Given the description of an element on the screen output the (x, y) to click on. 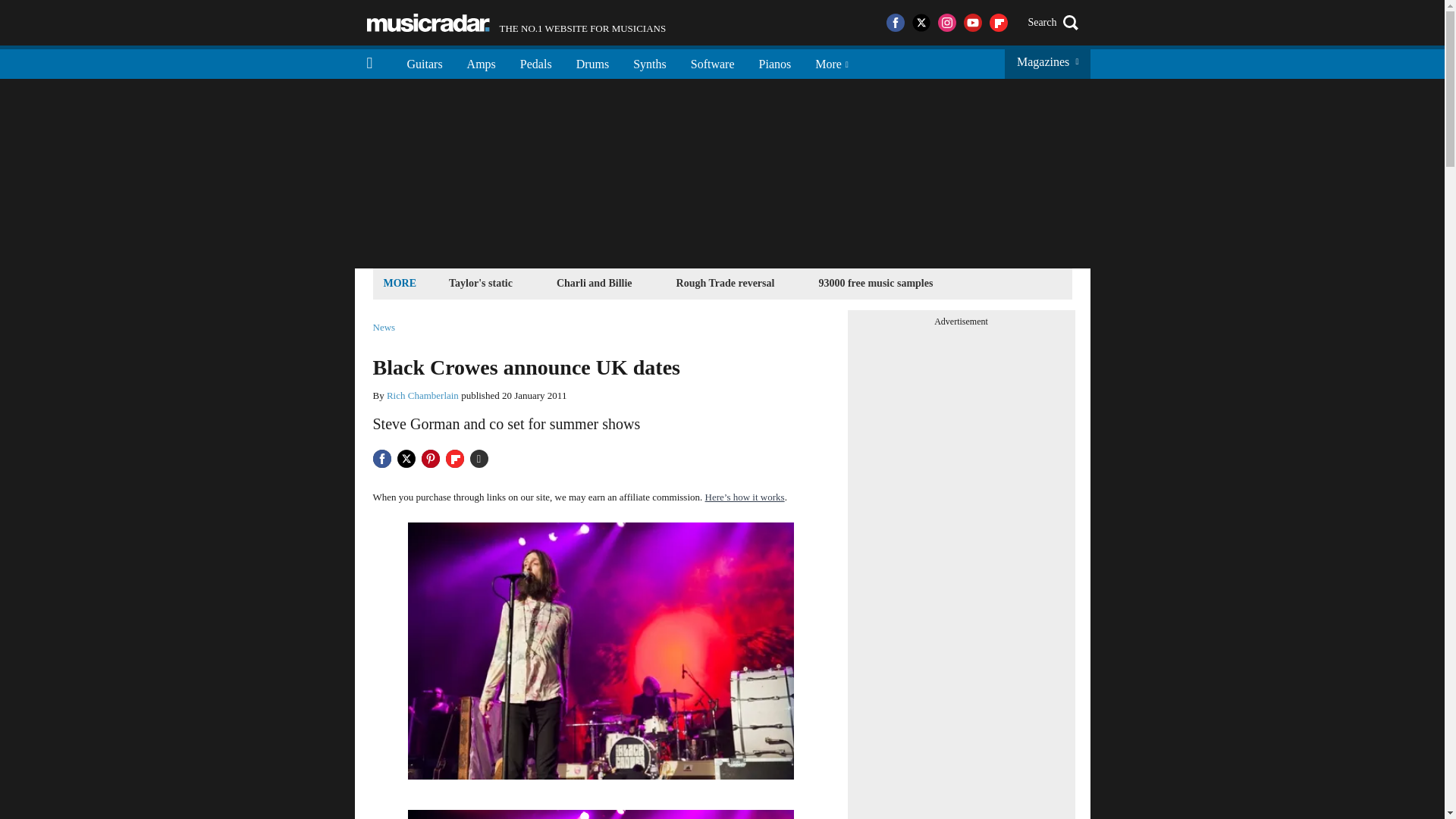
Synths (649, 61)
Pedals (516, 22)
Rich Chamberlain (536, 61)
Drums (422, 395)
Taylor's static (592, 61)
Pianos (481, 282)
93000 free music samples (774, 61)
Rough Trade reversal (874, 282)
Guitars (725, 282)
